Given the description of an element on the screen output the (x, y) to click on. 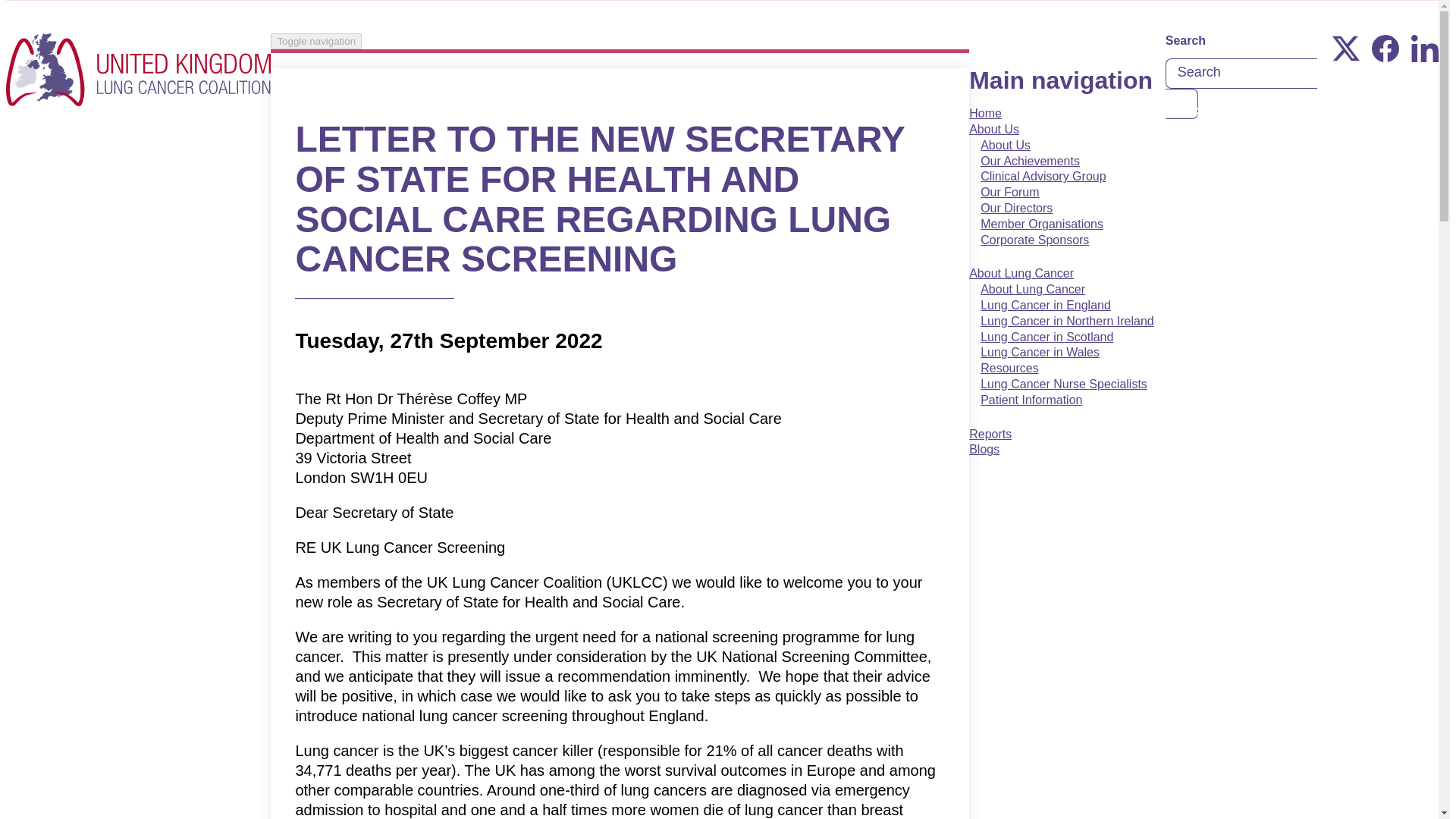
Enter the terms you wish to search for. (1241, 73)
Lung Cancer in Wales (1039, 352)
Corporate Sponsors (1034, 239)
About Lung Cancer (1032, 289)
Reports (990, 441)
Toggle navigation (315, 41)
Search (1182, 103)
Our Forum (1009, 191)
About Lung Cancer (1021, 280)
Lung Cancer Nurse Specialists (1063, 384)
